Given the description of an element on the screen output the (x, y) to click on. 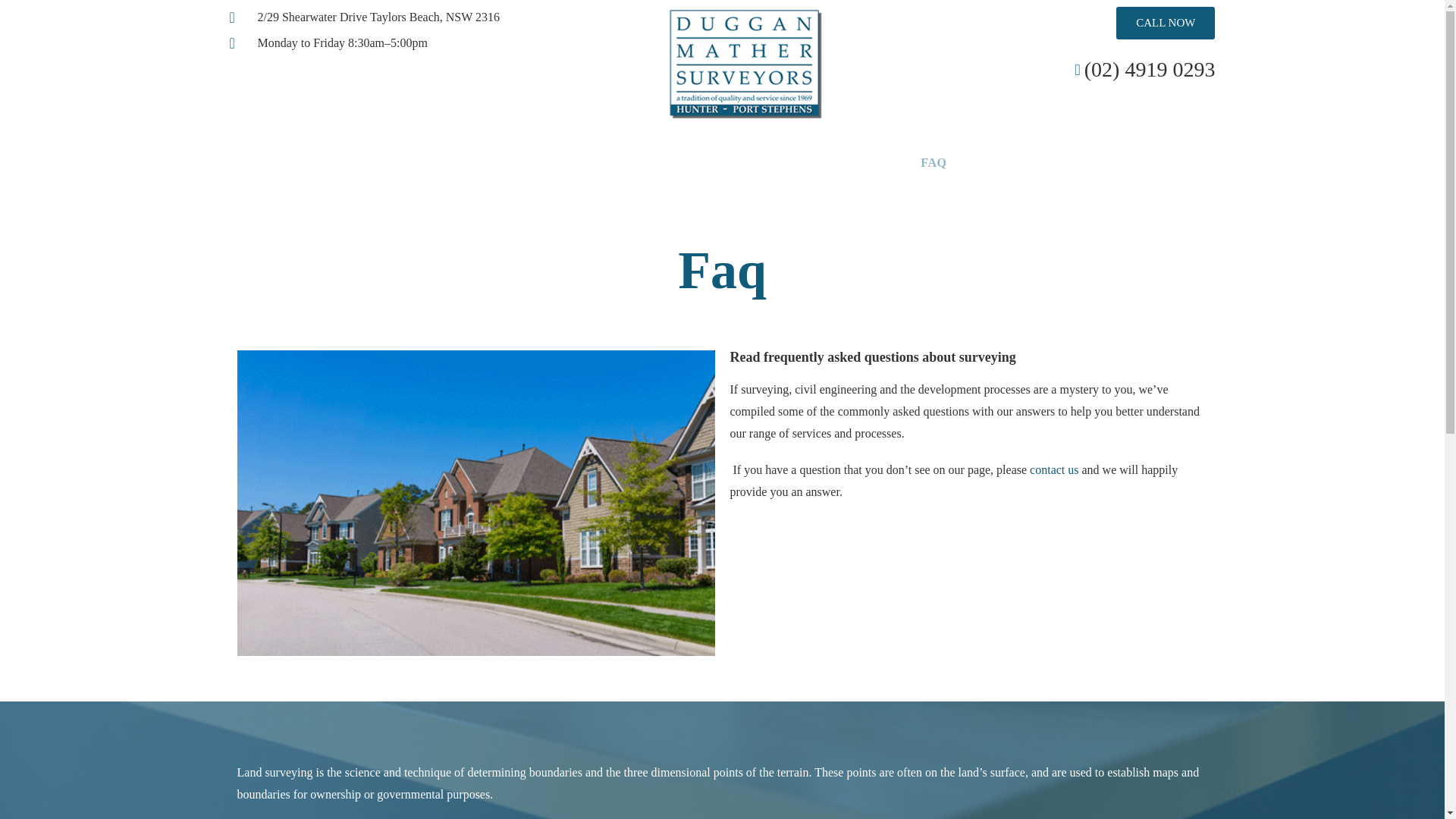
CIVIL ENGINEERING (613, 162)
DEVELOPMENT (744, 162)
GALLERY (991, 162)
CONTACT (1067, 162)
CALL NOW (1165, 22)
ABOUT (421, 162)
TESTIMONIALS (857, 162)
SURVEYING (496, 162)
HOME (364, 162)
